Given the description of an element on the screen output the (x, y) to click on. 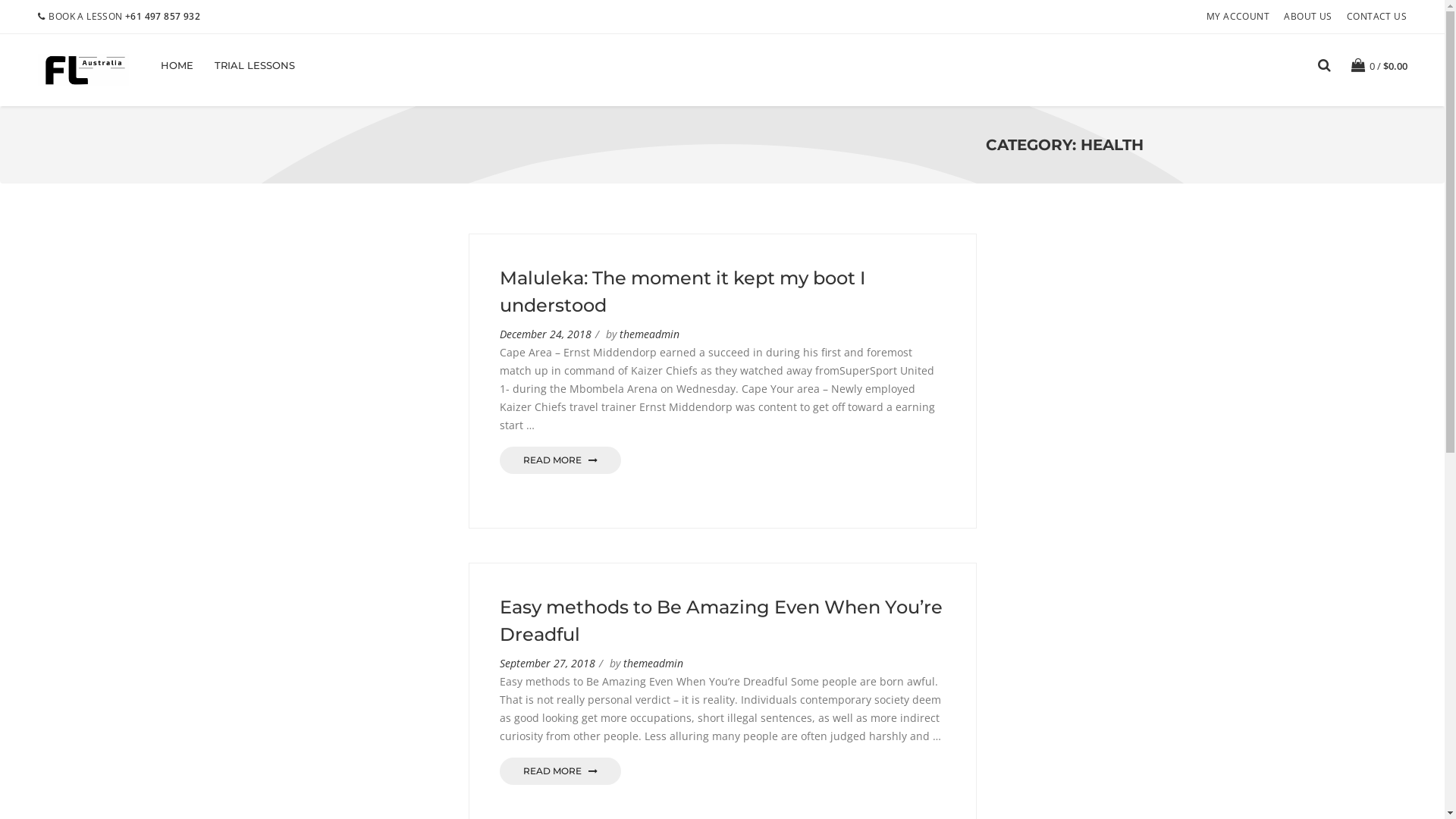
TRIAL LESSONS Element type: text (254, 65)
READ MORE Element type: text (559, 459)
CONTACT US Element type: text (1376, 16)
Flylight Australia Element type: hover (82, 69)
MY ACCOUNT Element type: text (1237, 16)
0 $0.00 Element type: text (1379, 65)
Maluleka: The moment it kept my boot I understood Element type: text (681, 291)
September 27, 2018 Element type: text (546, 662)
themeadmin Element type: text (653, 662)
themeadmin Element type: text (648, 333)
December 24, 2018 Element type: text (544, 333)
HOME Element type: text (176, 65)
Search Element type: text (1125, 420)
READ MORE Element type: text (559, 770)
ABOUT US Element type: text (1307, 16)
